Given the description of an element on the screen output the (x, y) to click on. 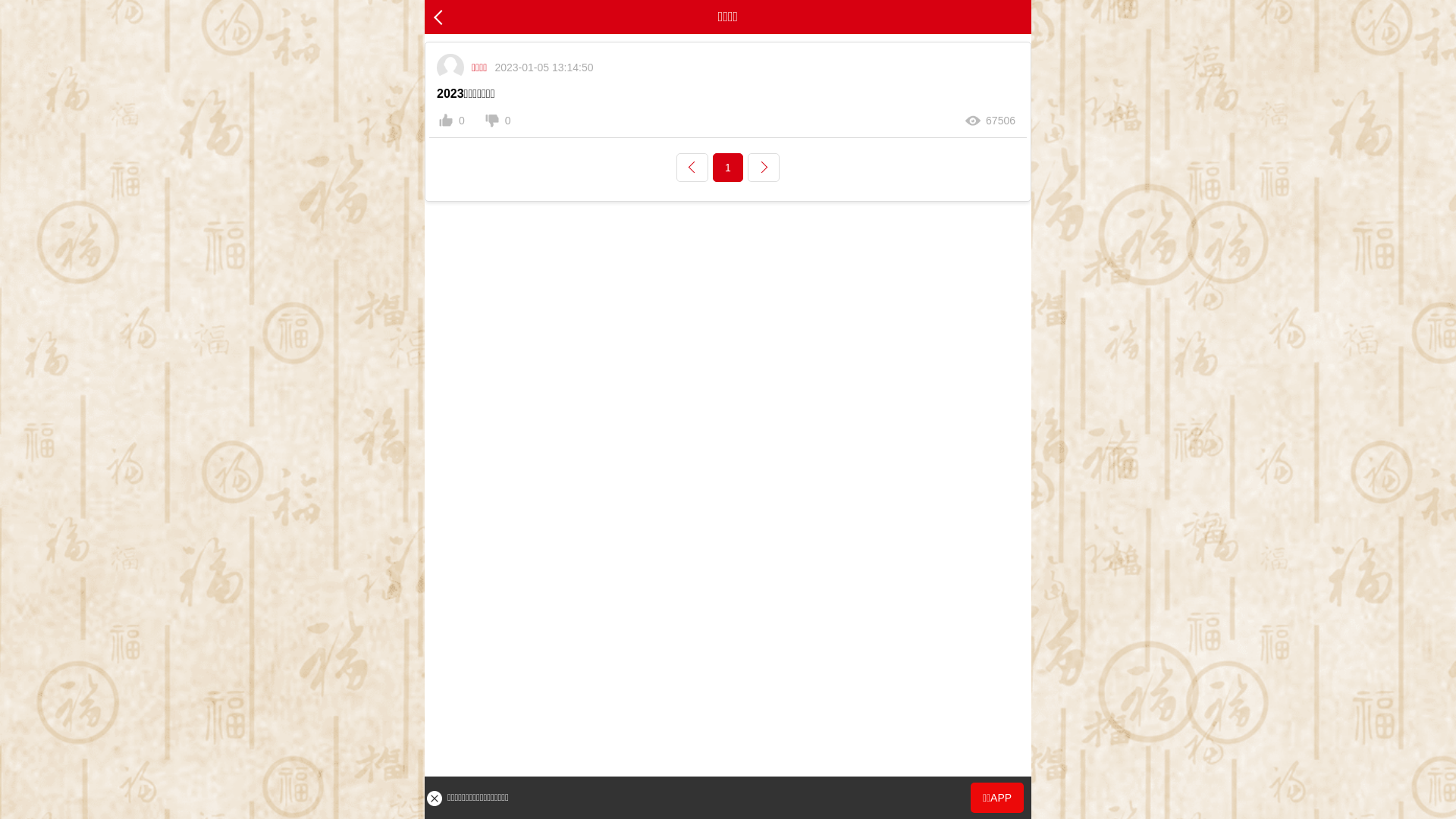
1 Element type: text (727, 167)
